Given the description of an element on the screen output the (x, y) to click on. 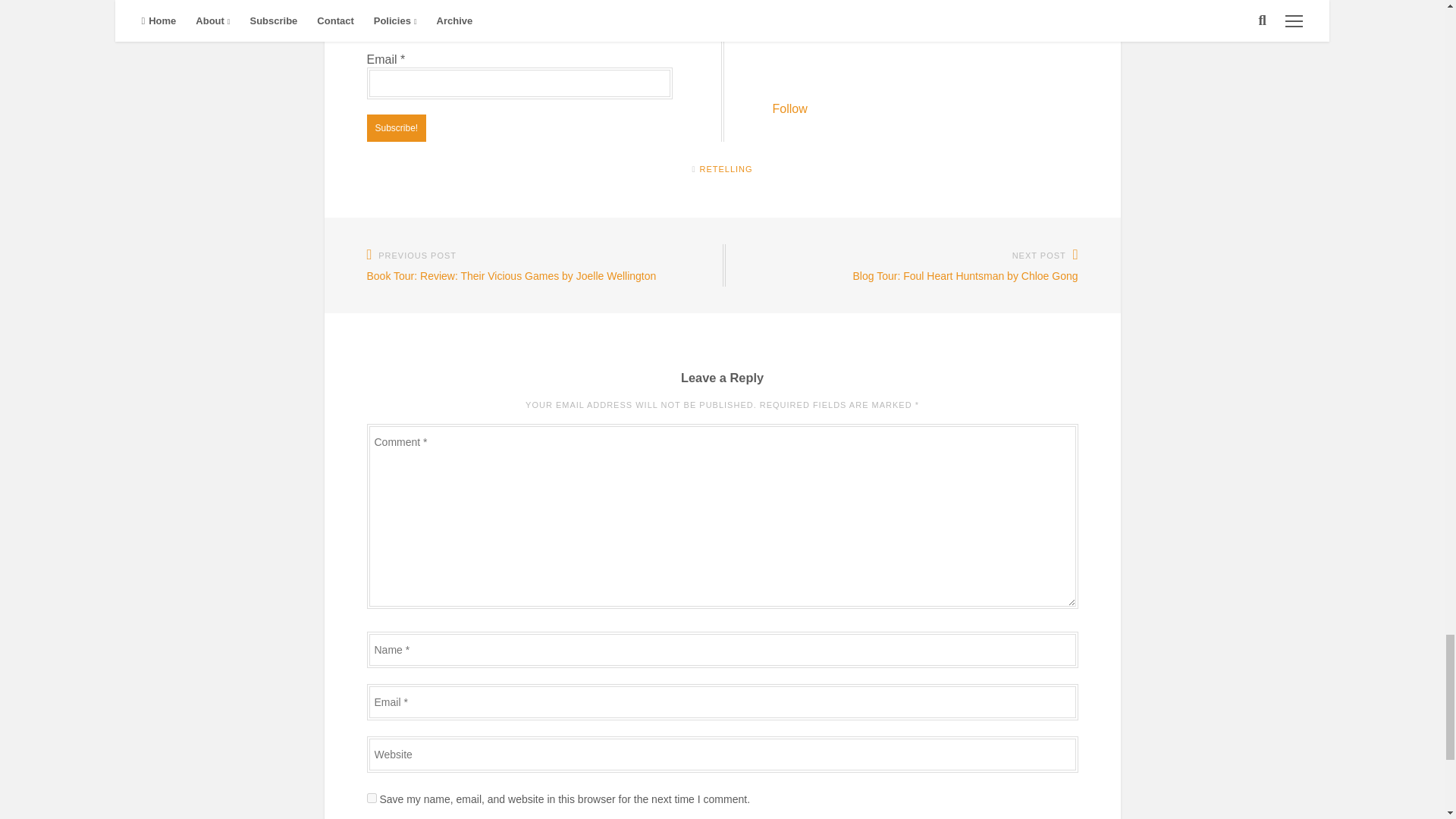
Subscribe! (396, 127)
3 (371, 28)
yes (371, 798)
4 (371, 13)
Email (519, 83)
Follow Button (924, 77)
